Given the description of an element on the screen output the (x, y) to click on. 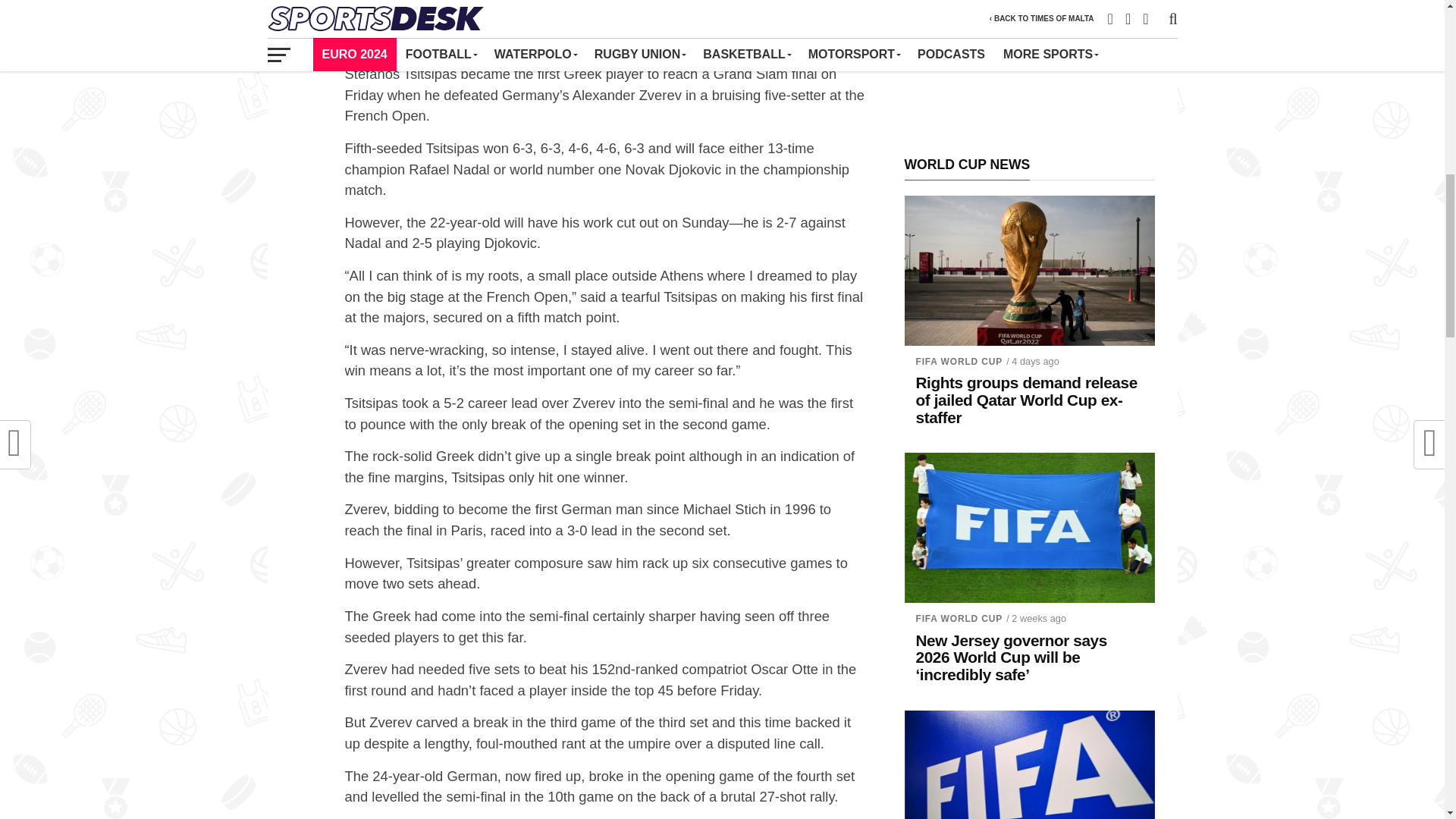
3rd party ad content (1028, 67)
